Given the description of an element on the screen output the (x, y) to click on. 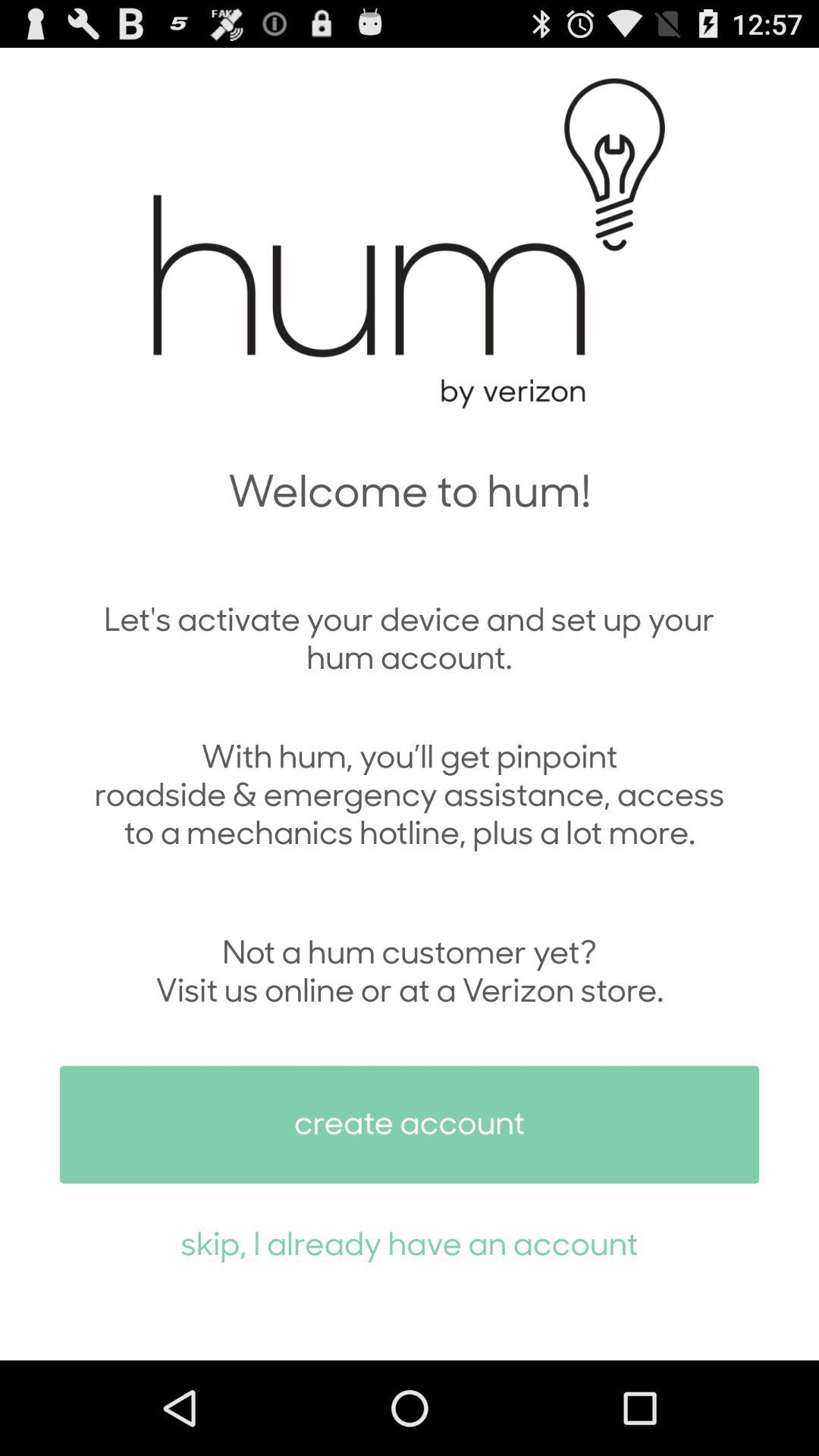
choose icon below the not a hum item (409, 1124)
